Given the description of an element on the screen output the (x, y) to click on. 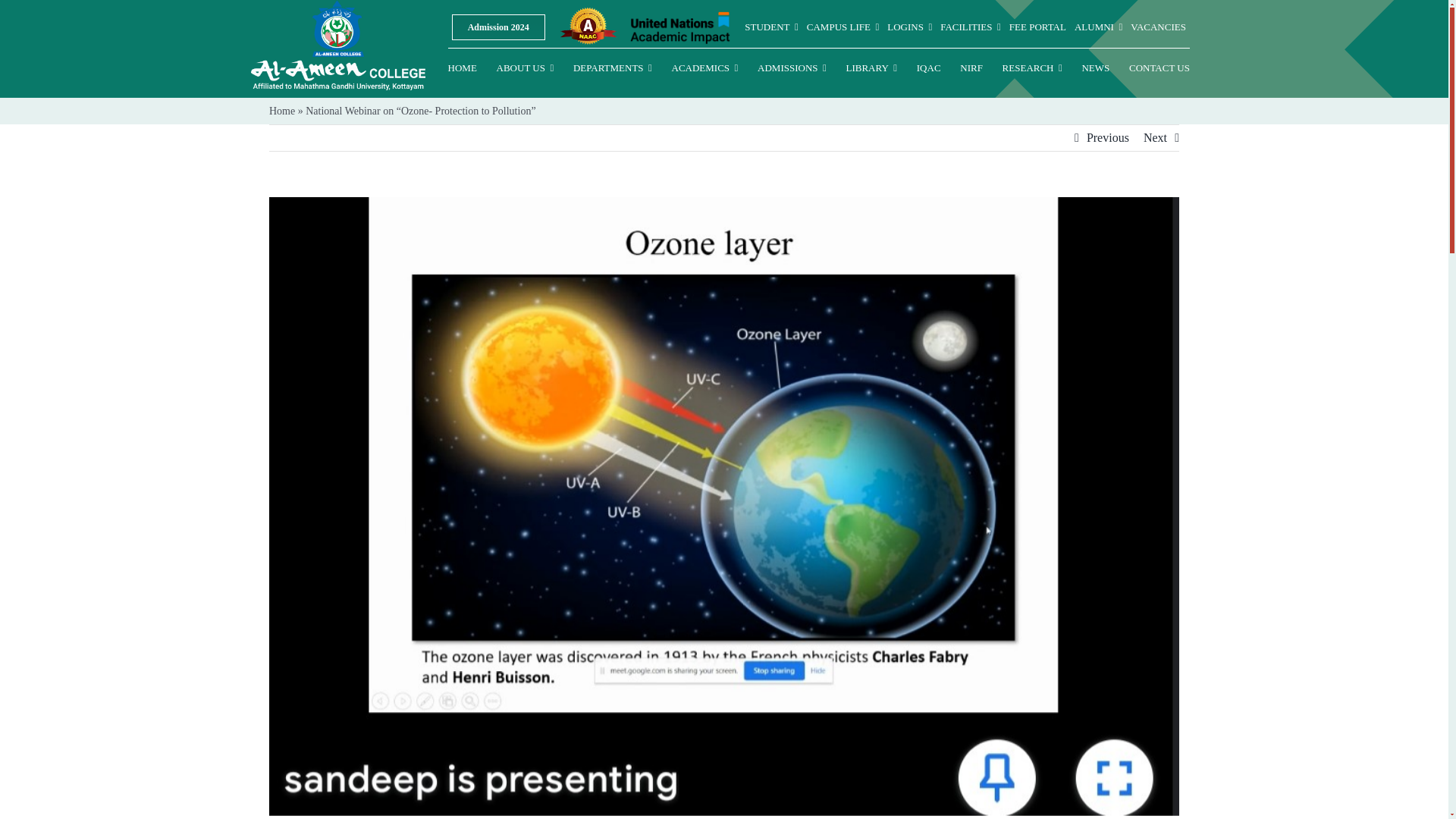
CAMPUS LIFE (842, 26)
STUDENT (770, 26)
Admission 2024 (497, 27)
